Given the description of an element on the screen output the (x, y) to click on. 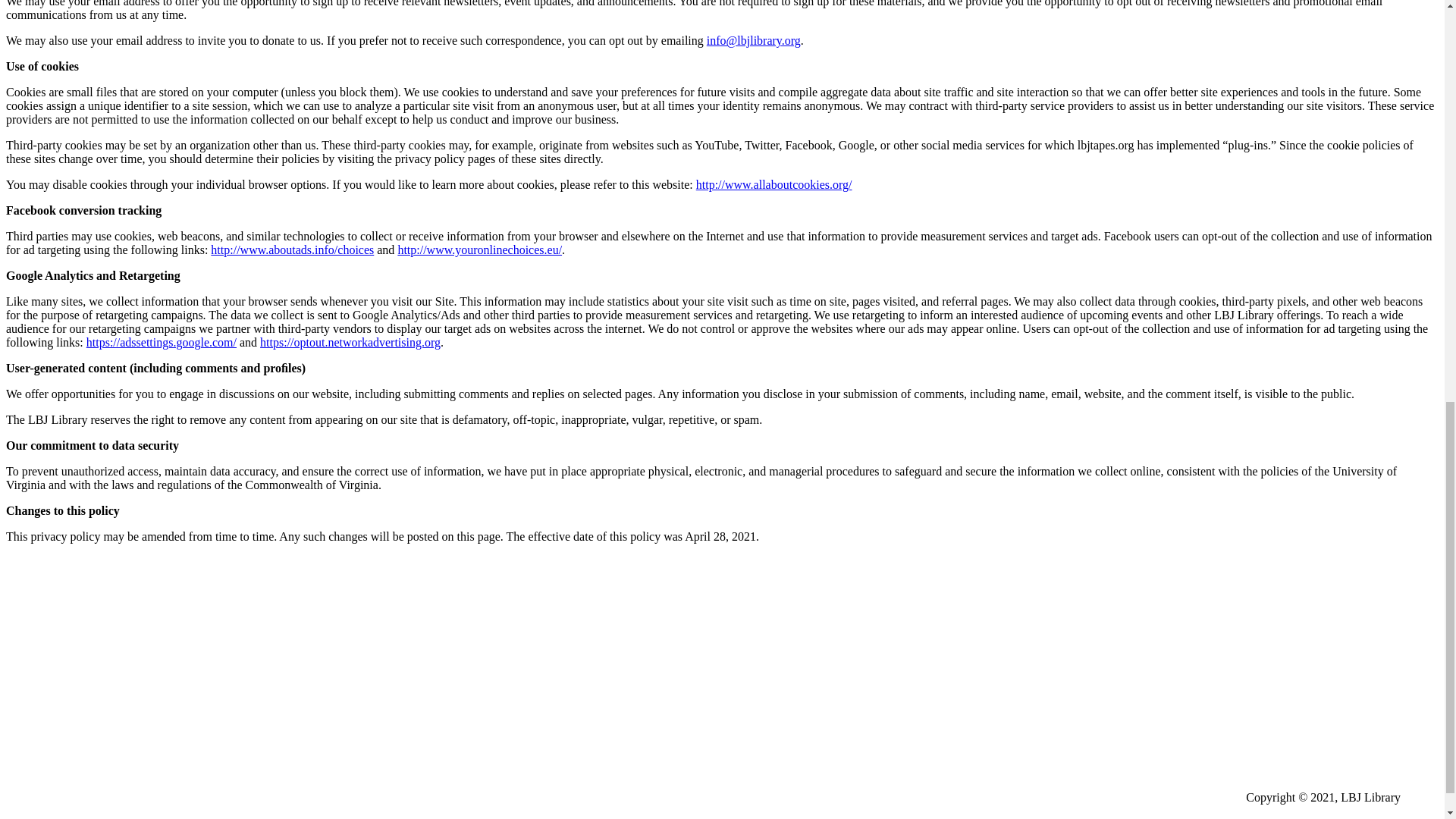
Privacy Policy (79, 625)
Contact Us (71, 599)
Press Inquiries (79, 651)
